Given the description of an element on the screen output the (x, y) to click on. 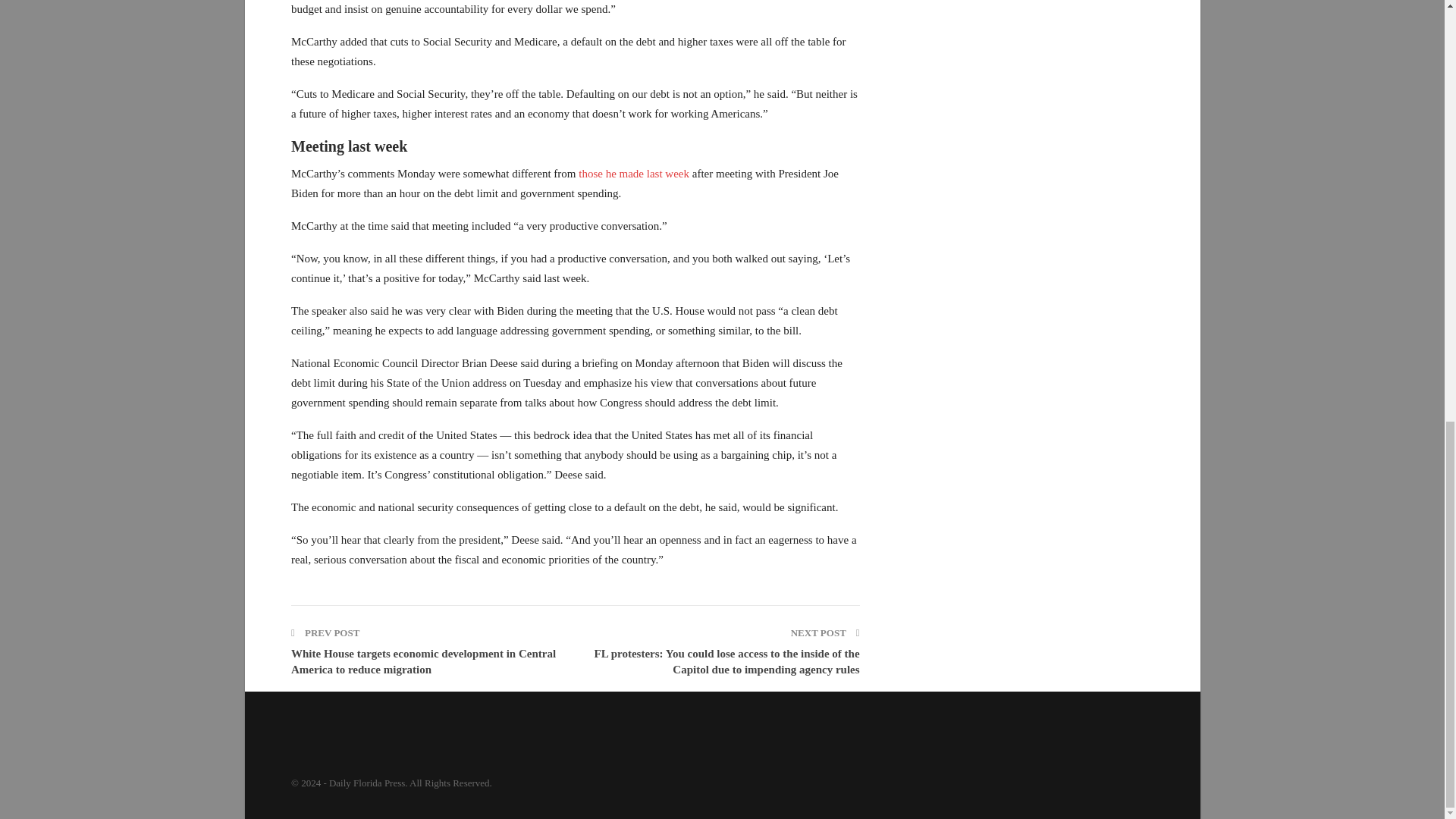
those he made last week  (635, 173)
